Given the description of an element on the screen output the (x, y) to click on. 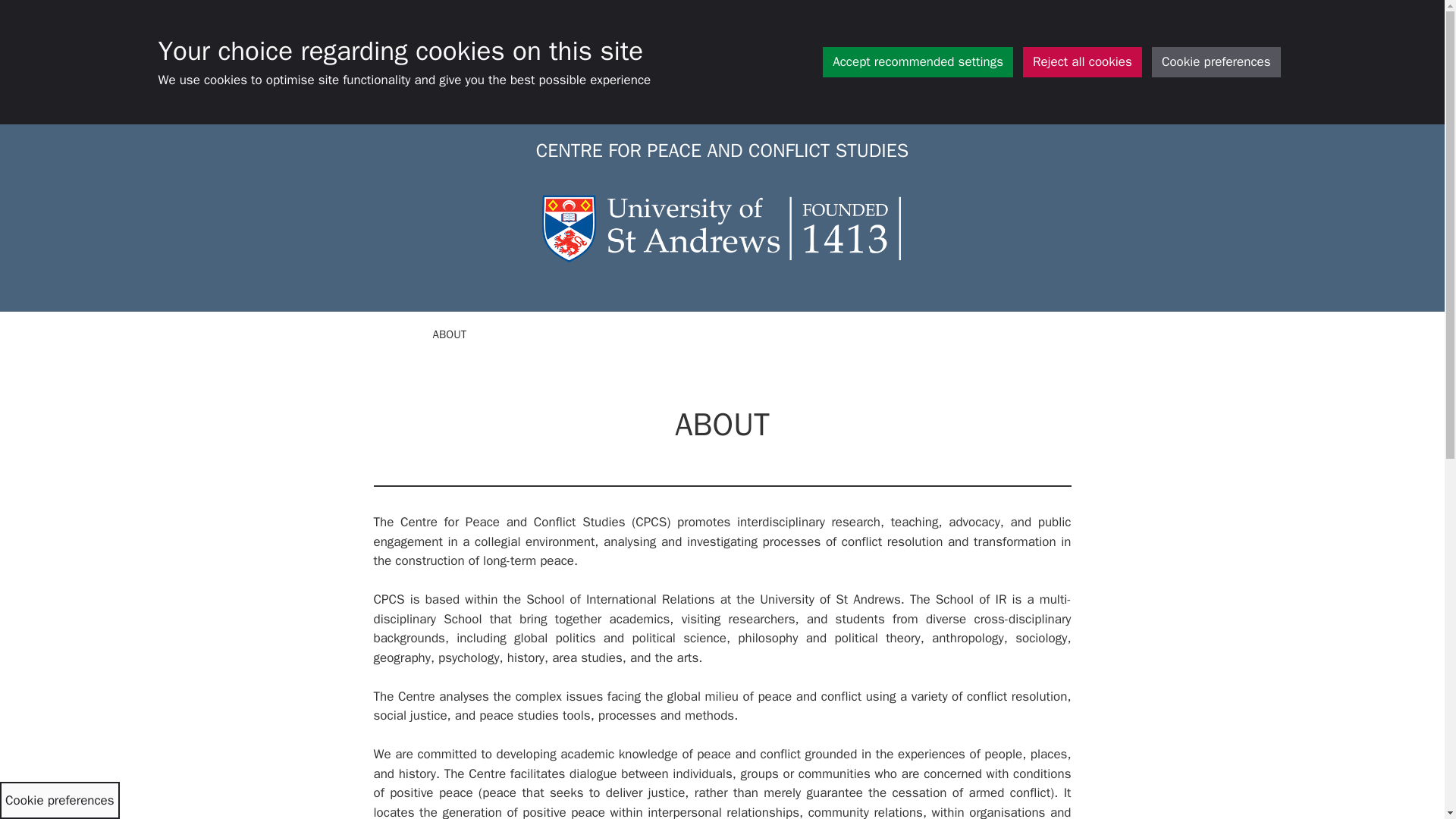
Reject all cookies (1082, 61)
Cookie preferences (1216, 61)
RESEARCH (532, 334)
TEACHING (623, 334)
WELCOME (376, 334)
ABOUT (449, 334)
Accept recommended settings (917, 61)
CENTRE FOR PEACE AND CONFLICT STUDIES (721, 150)
PEOPLE (708, 334)
